Given the description of an element on the screen output the (x, y) to click on. 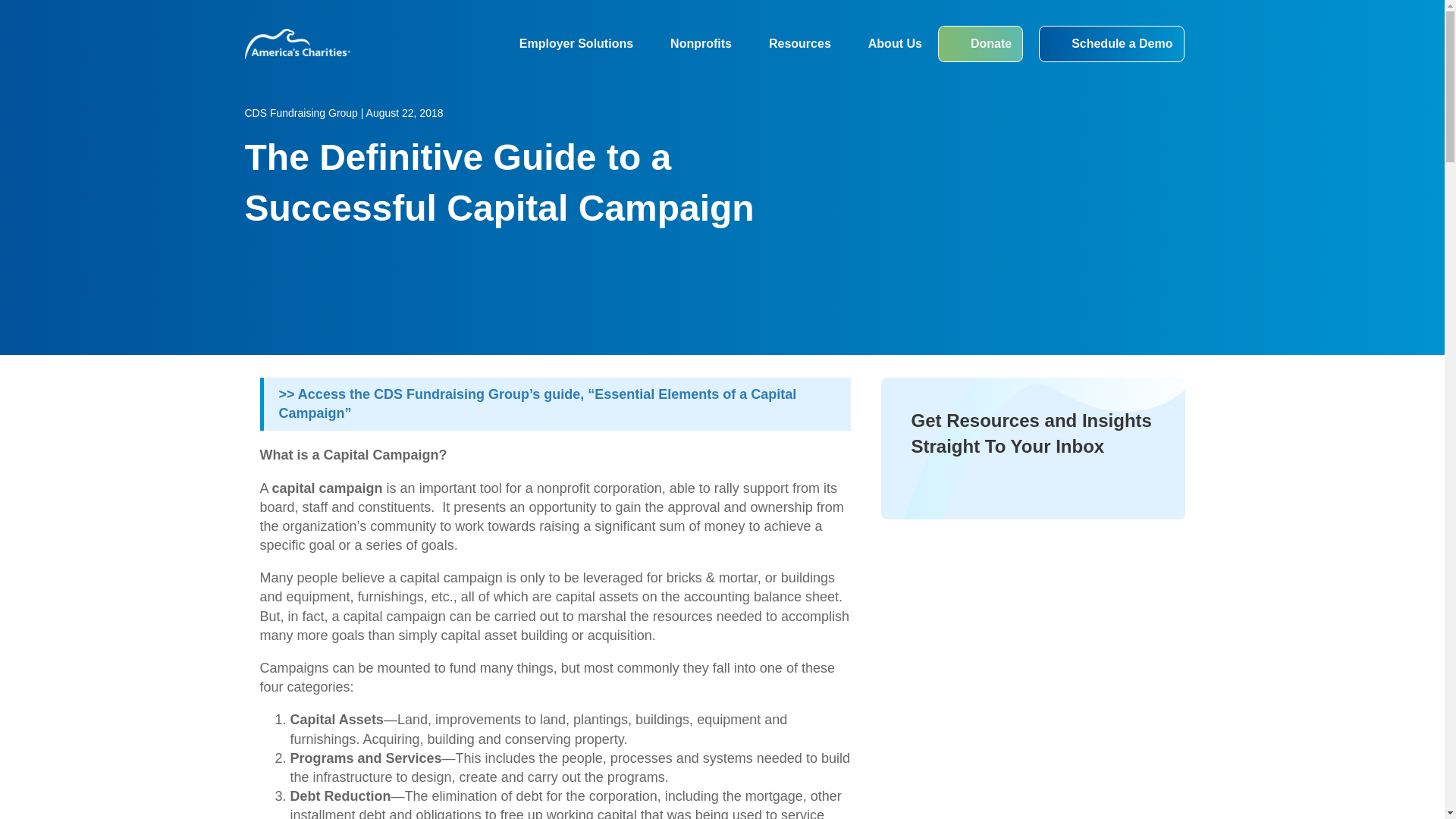
Nonprofits (690, 44)
Donate (980, 43)
Resources (789, 44)
About Us (884, 44)
charities-logo-new (296, 43)
Schedule a Demo (1111, 43)
Employer Solutions (565, 44)
